Given the description of an element on the screen output the (x, y) to click on. 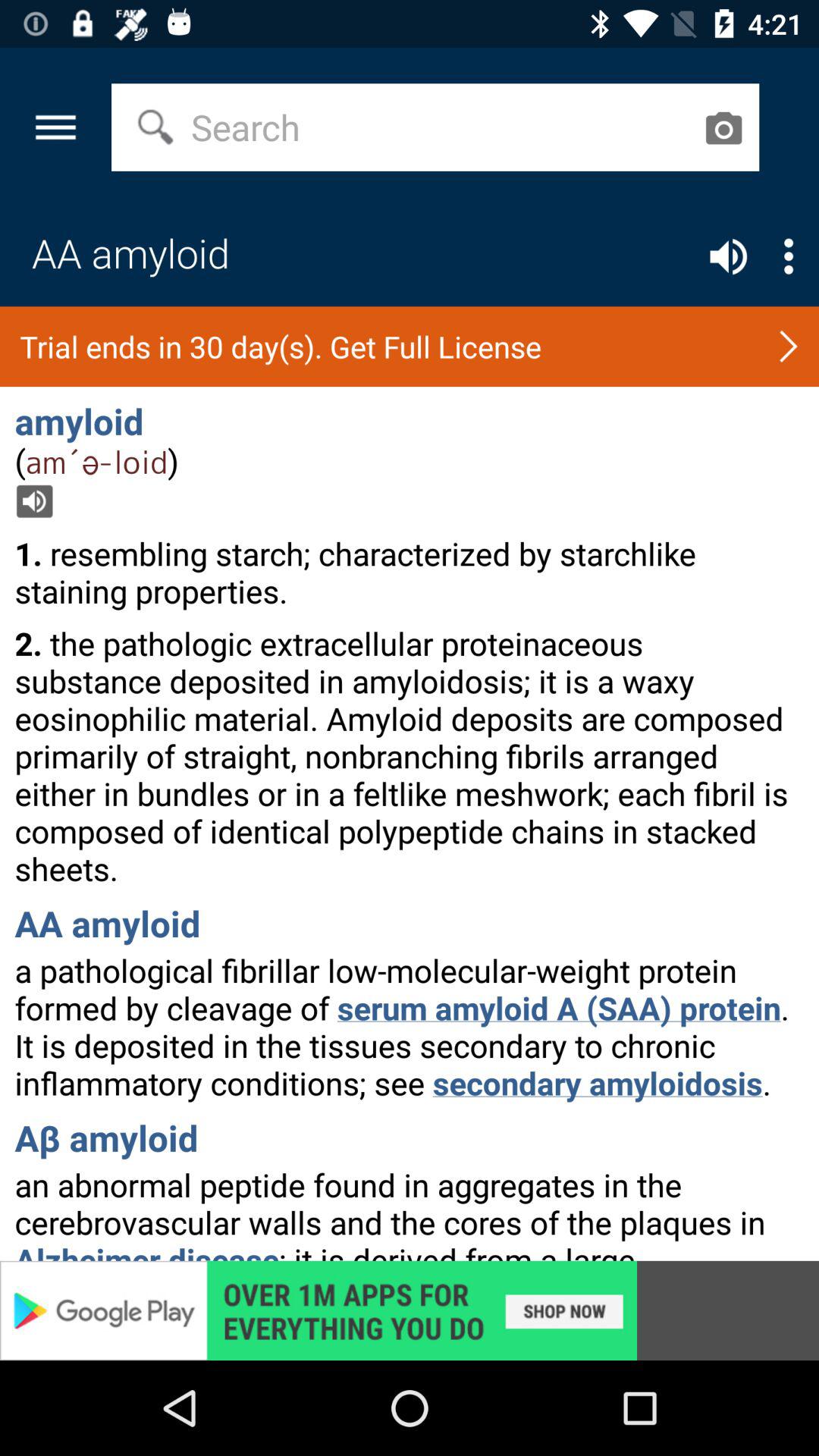
more tools (788, 256)
